Given the description of an element on the screen output the (x, y) to click on. 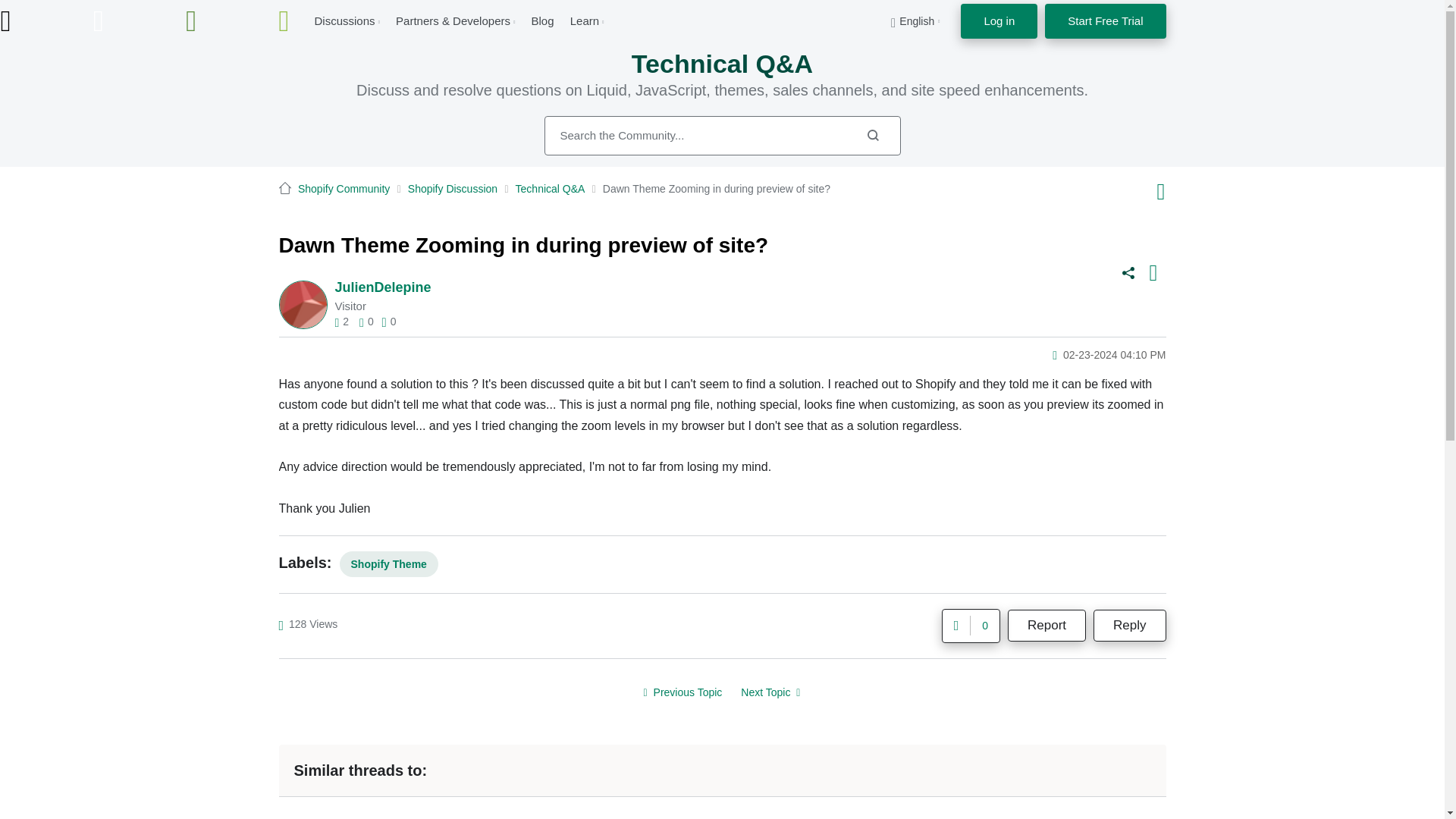
Search (872, 135)
Discussions (344, 20)
Search (872, 135)
Search (722, 135)
